Given the description of an element on the screen output the (x, y) to click on. 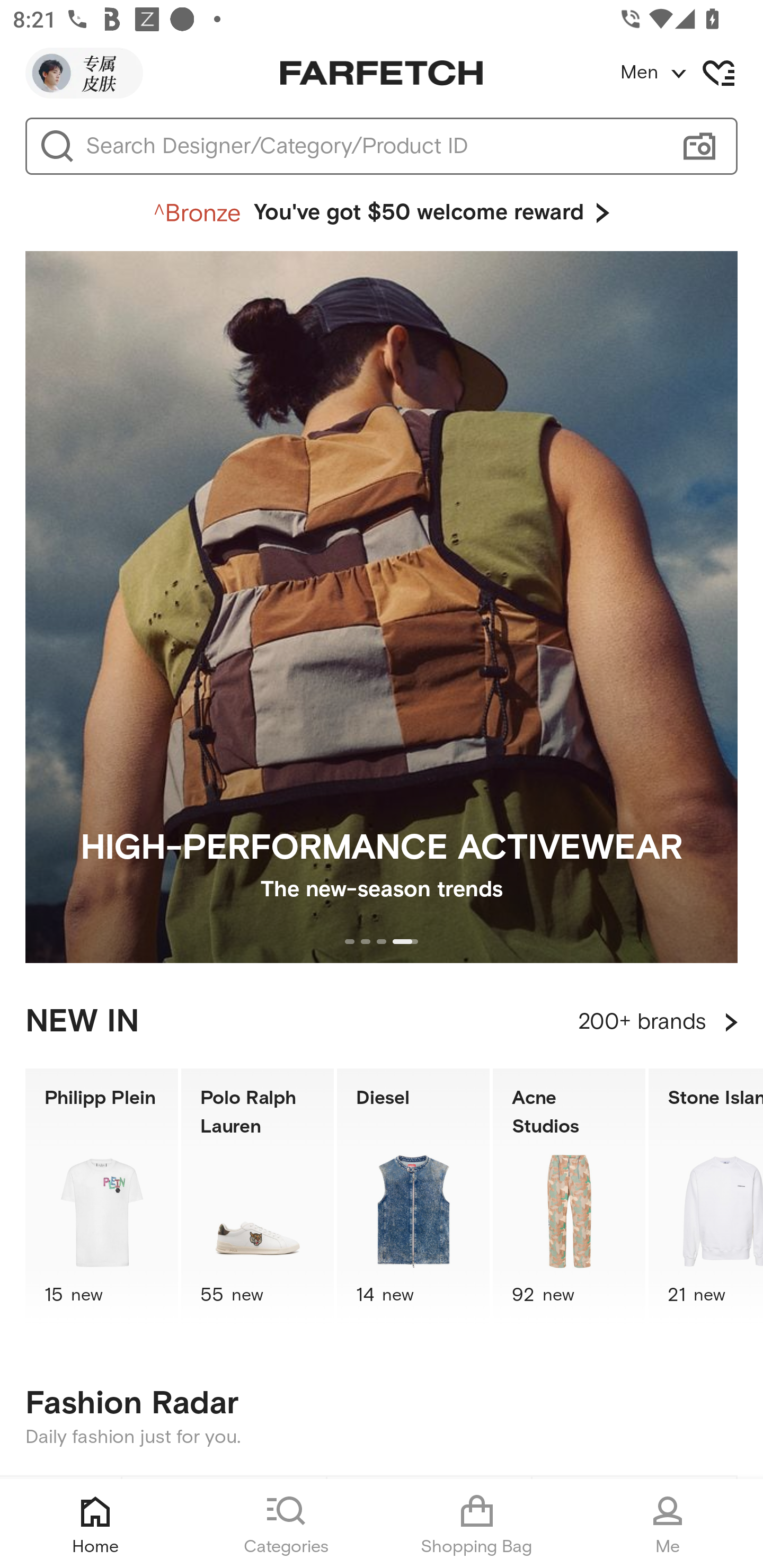
Men (691, 72)
Search Designer/Category/Product ID (373, 146)
You've got $50 welcome reward (381, 213)
NEW IN 200+ brands (381, 1021)
Philipp Plein 15  new (101, 1196)
Polo Ralph Lauren 55  new (257, 1196)
Diesel 14  new (413, 1196)
Acne Studios 92  new (568, 1196)
Stone Island 21  new (705, 1196)
Categories (285, 1523)
Shopping Bag (476, 1523)
Me (667, 1523)
